Given the description of an element on the screen output the (x, y) to click on. 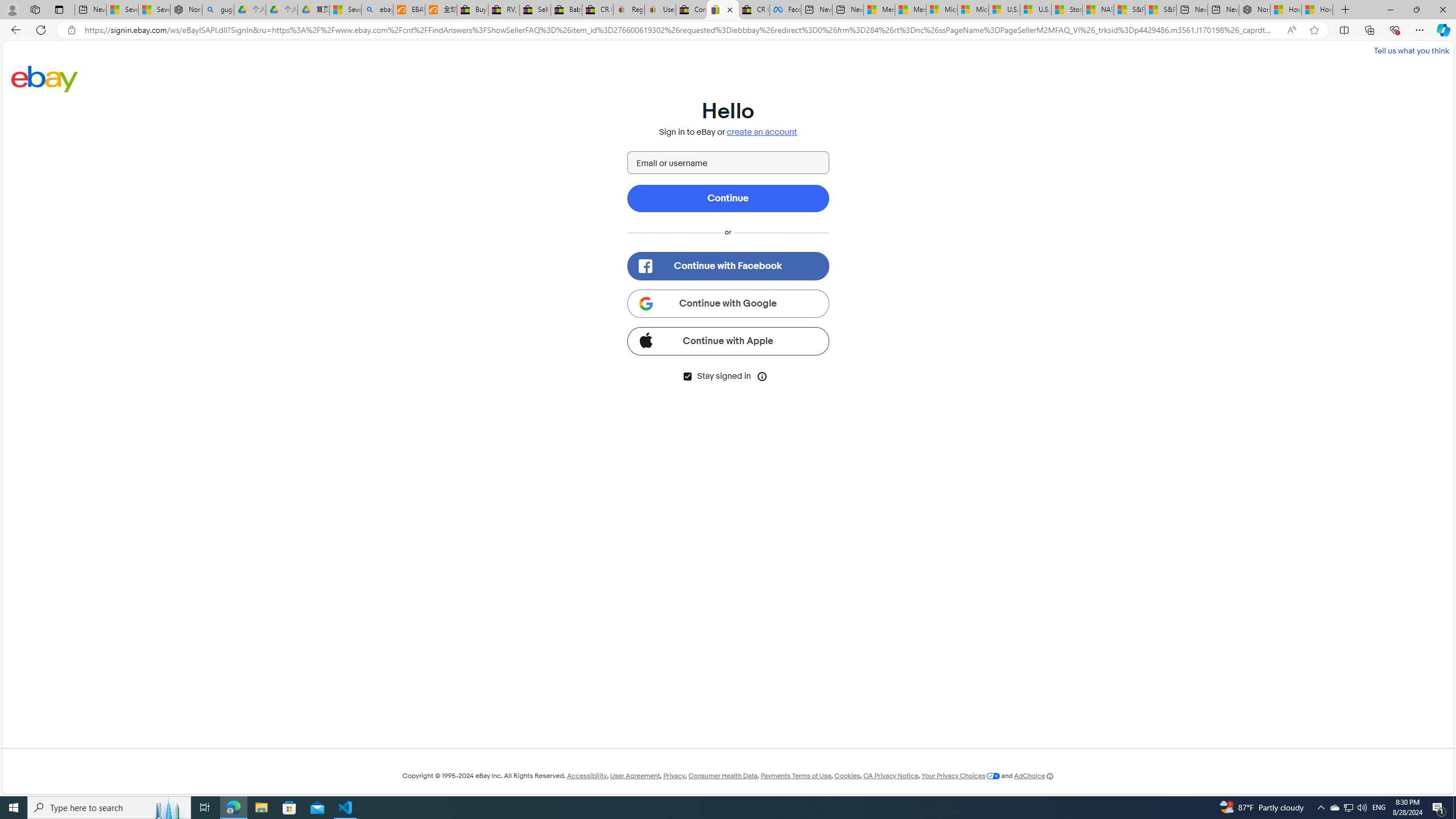
Tell us what you think - Link opens in a new window (1410, 50)
How to Use a Monitor With Your Closed Laptop (1317, 9)
Accessibility (586, 775)
User Agreement (635, 775)
Facebook (785, 9)
Consumer Health Data Privacy Policy - eBay Inc. (691, 9)
Stay signed in (687, 376)
guge yunpan - Search (218, 9)
